Given the description of an element on the screen output the (x, y) to click on. 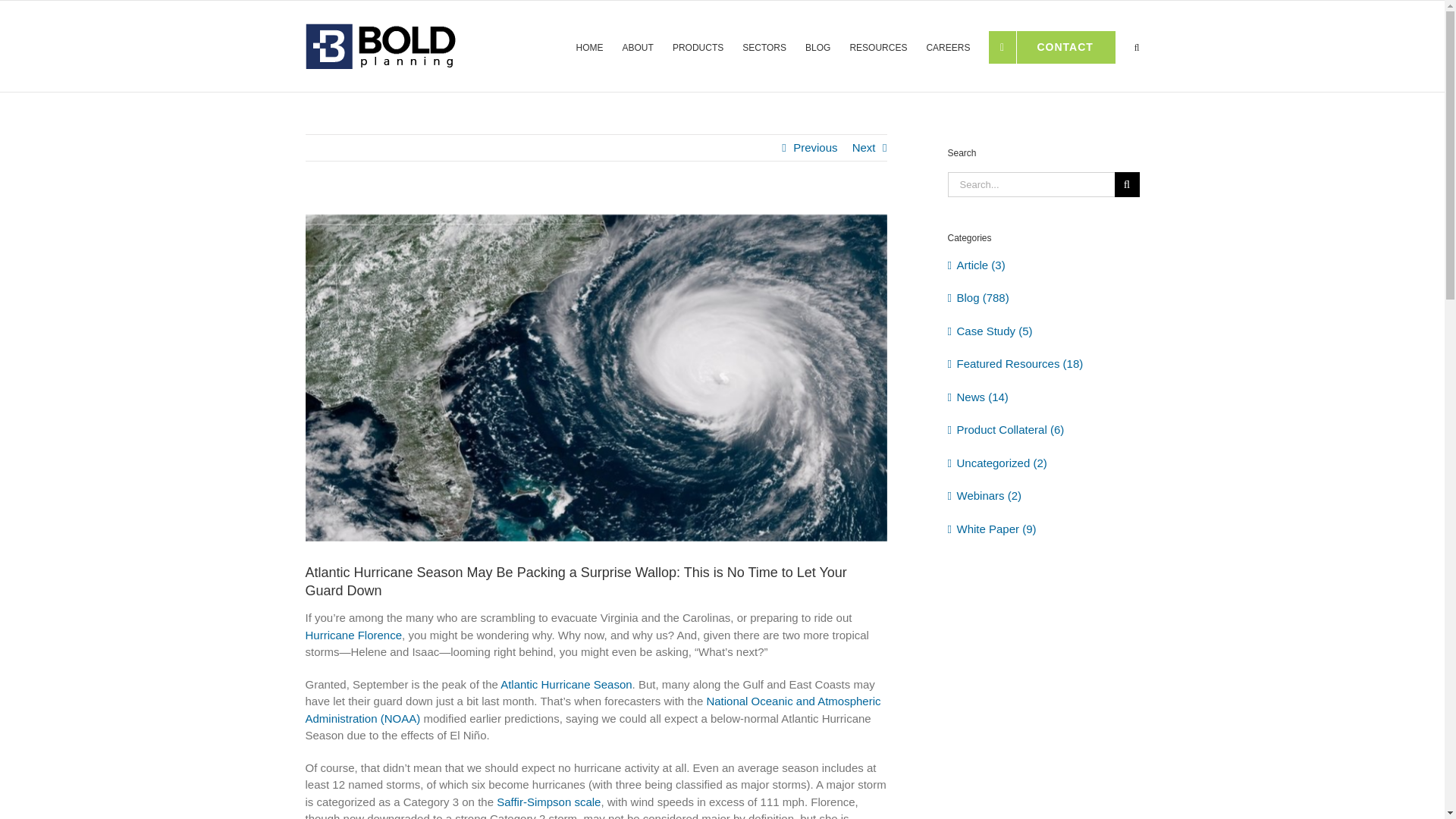
CONTACT (1051, 43)
